Given the description of an element on the screen output the (x, y) to click on. 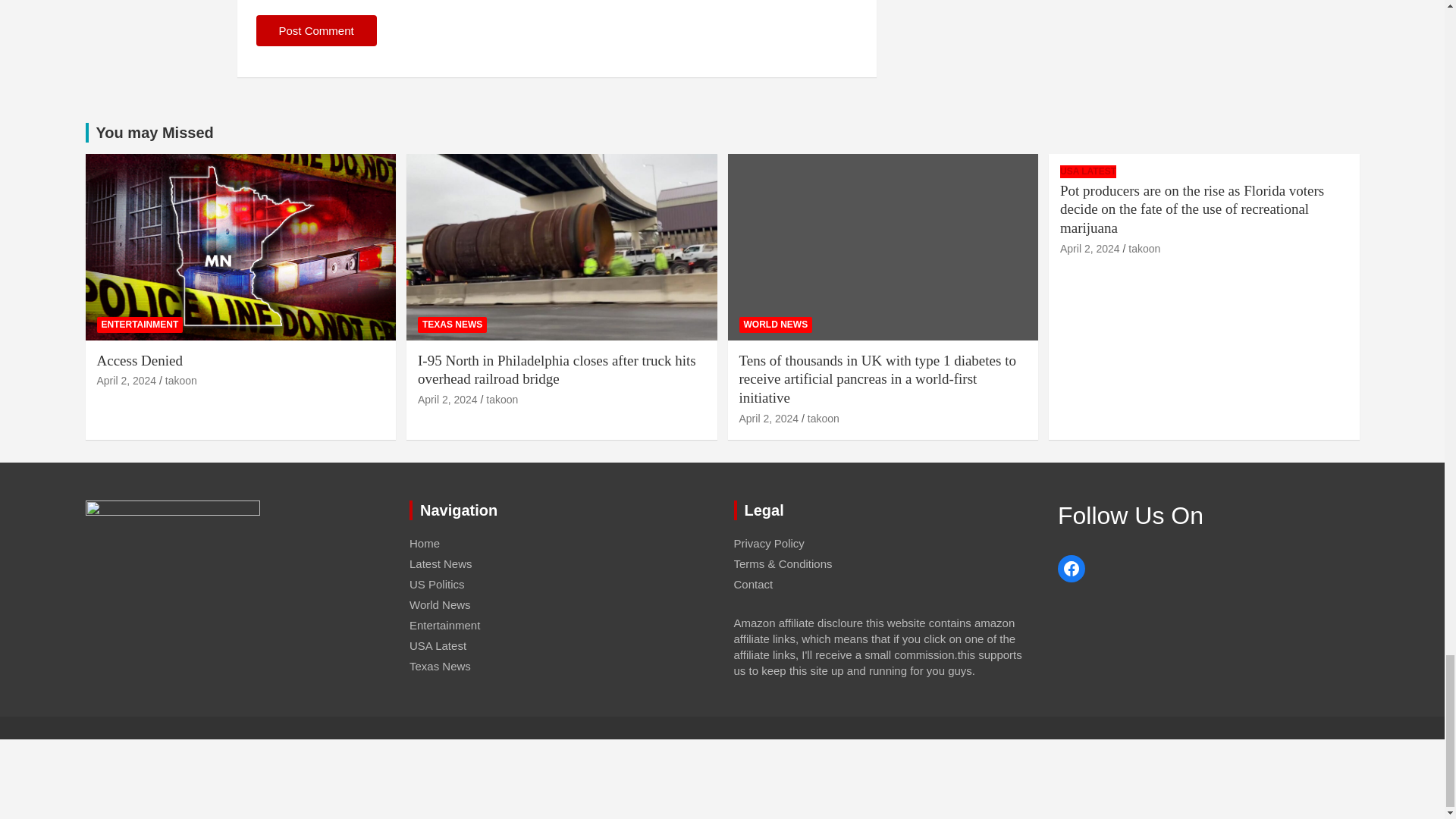
You may Missed (154, 132)
Post Comment (316, 30)
Post Comment (316, 30)
